Given the description of an element on the screen output the (x, y) to click on. 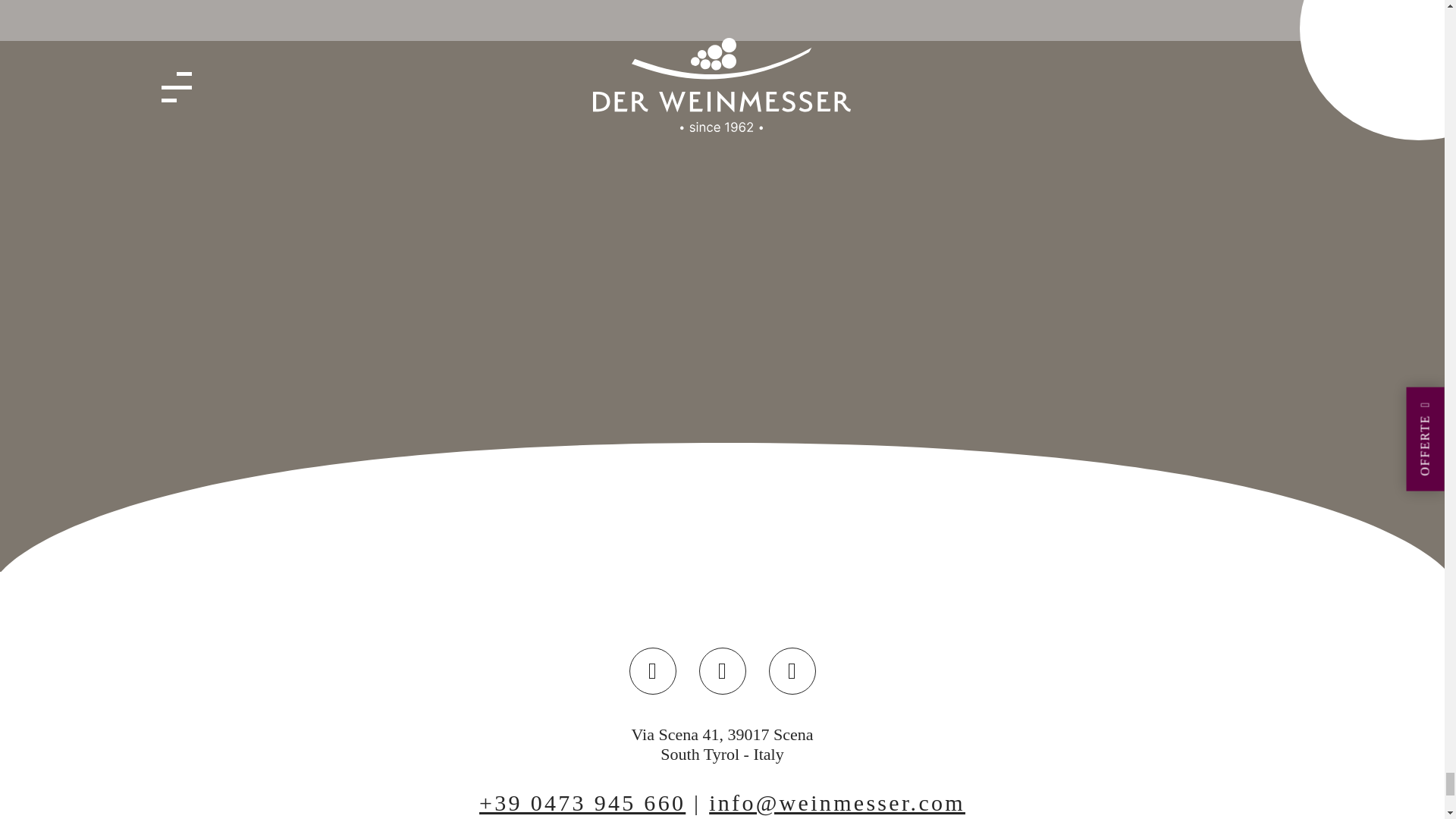
Follow us on Facebook (721, 670)
Follow us on Instagram (791, 670)
Write to us on WhatsApp (652, 670)
00390473945660 (582, 802)
